Given the description of an element on the screen output the (x, y) to click on. 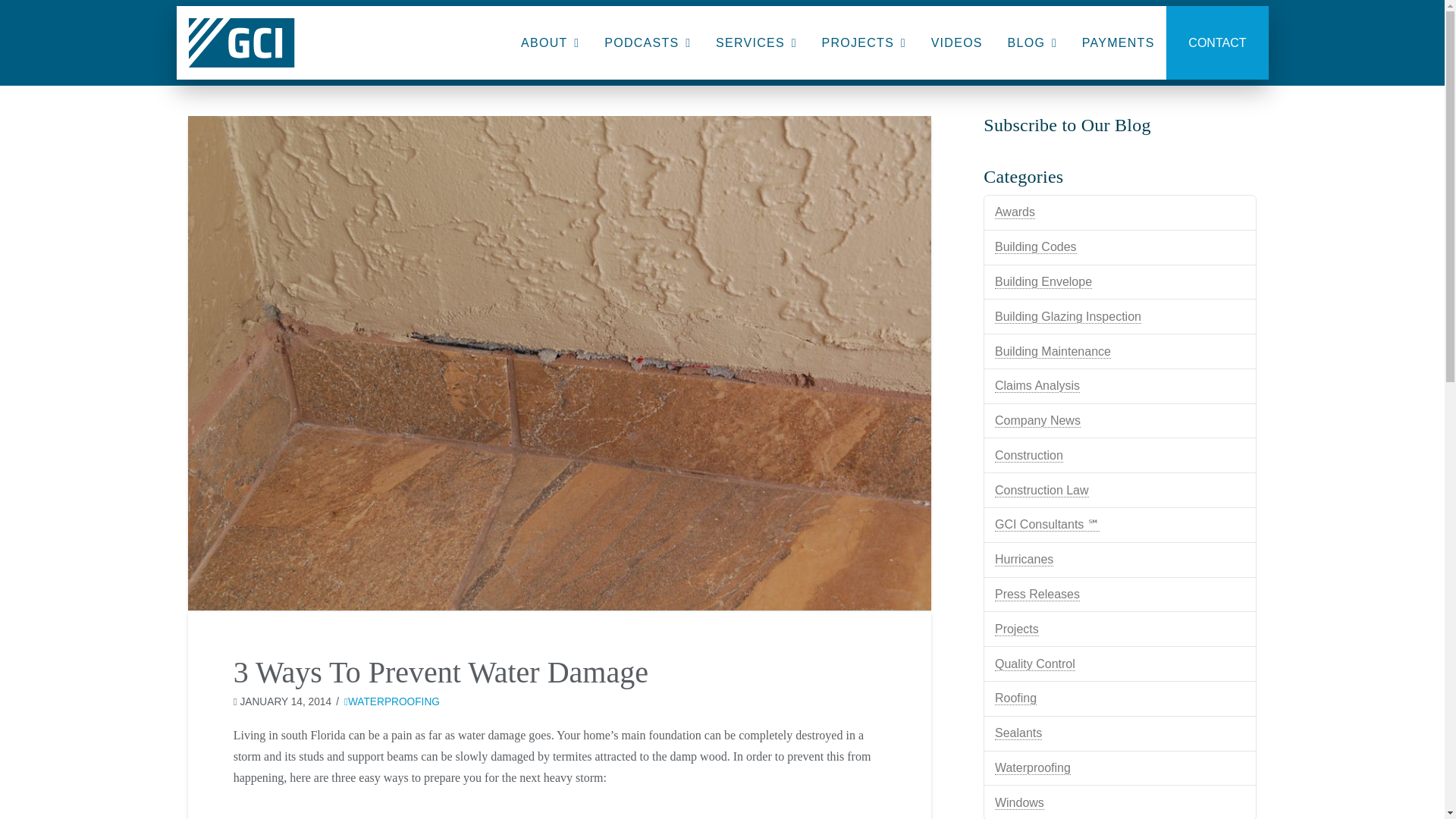
SERVICES (755, 42)
PROJECTS (862, 42)
PODCASTS (647, 42)
ABOUT (549, 42)
